Given the description of an element on the screen output the (x, y) to click on. 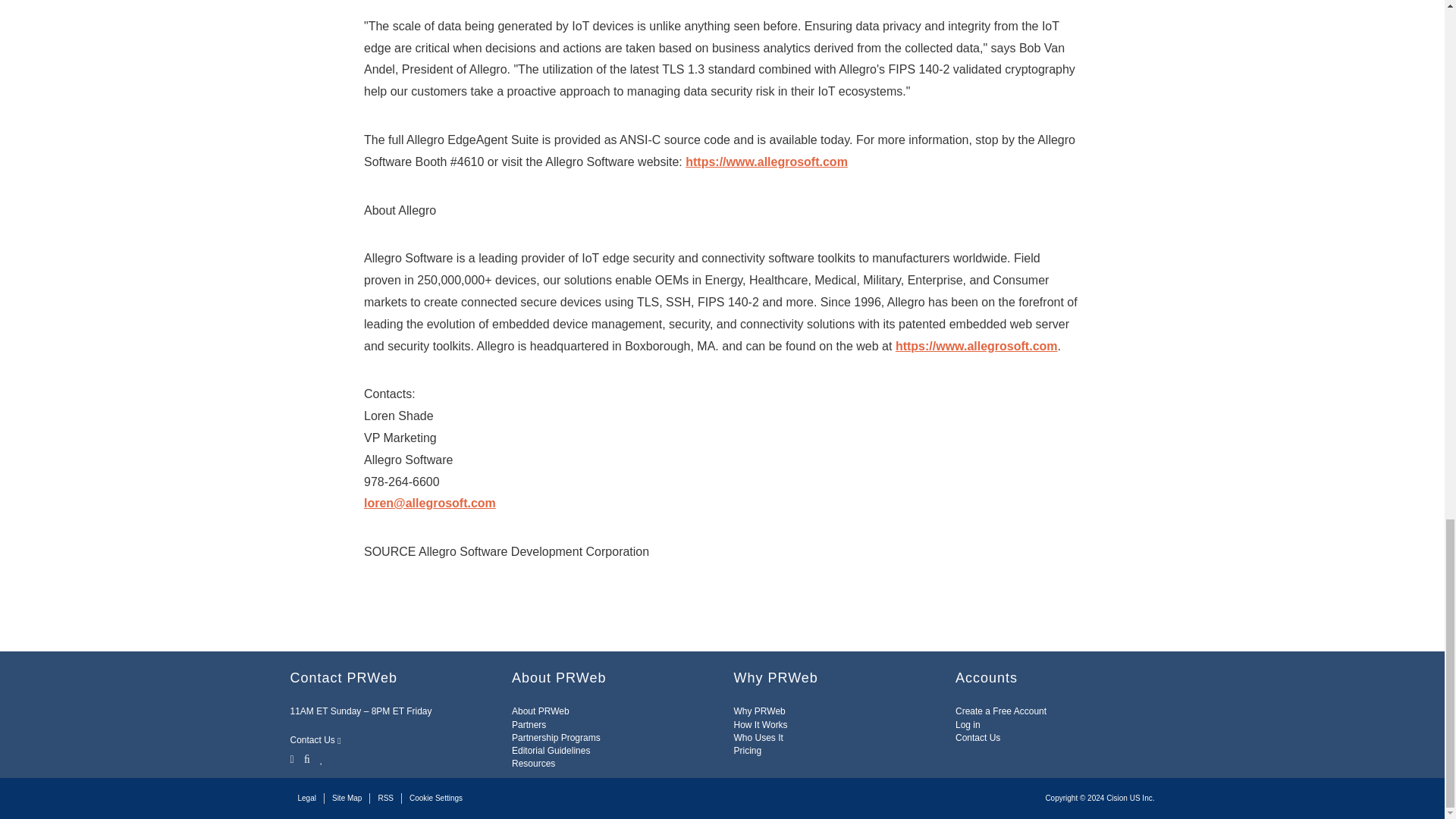
How It Works (760, 724)
Editorial Guidelines (550, 750)
Partnership Programs (555, 737)
About PRWeb (540, 710)
Resources (533, 763)
Why PRWeb (759, 710)
Partners (529, 724)
Facebook (306, 758)
